Given the description of an element on the screen output the (x, y) to click on. 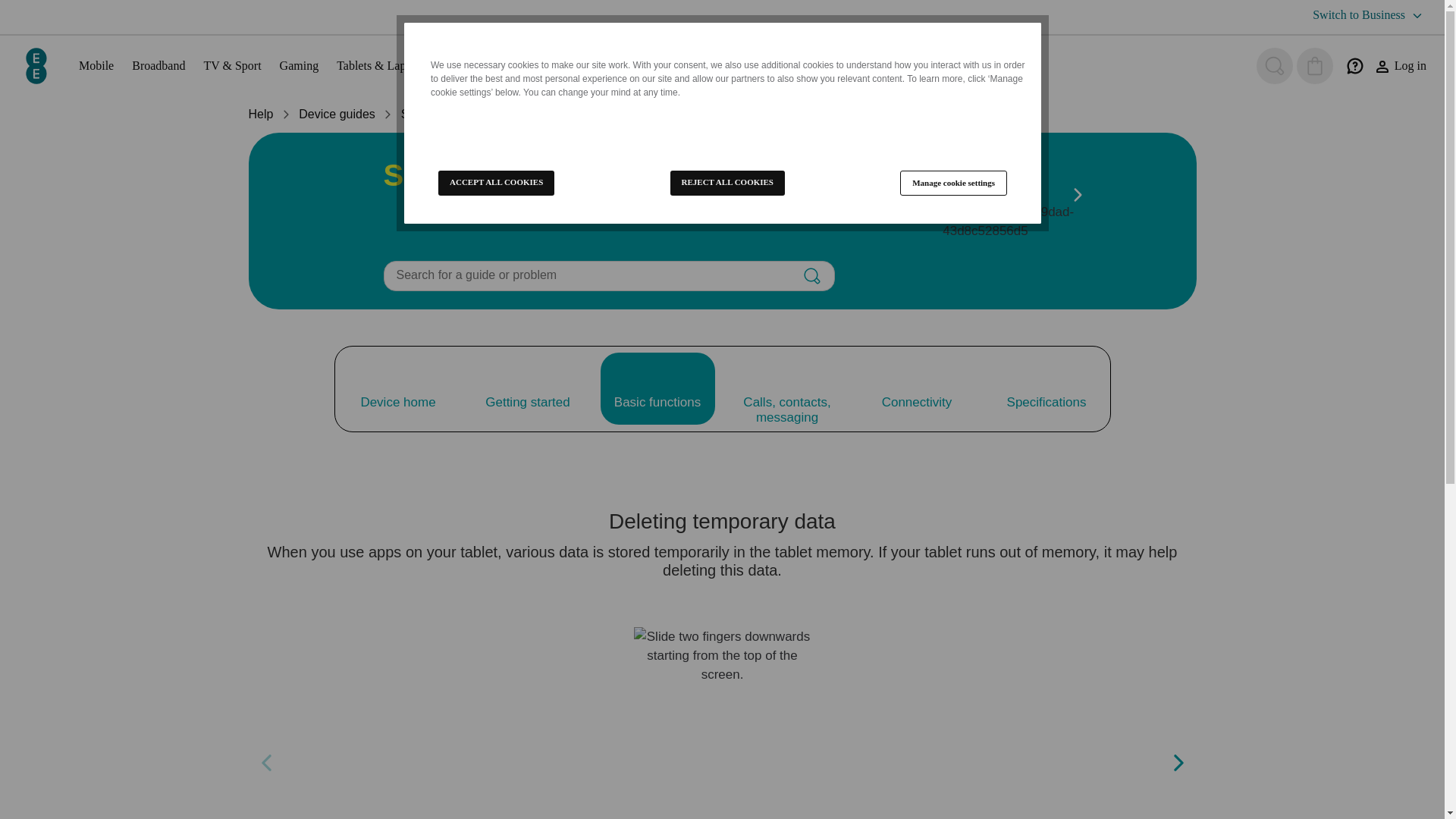
Broadband (158, 65)
Galaxy Tab S8 (516, 113)
TrustArc Cookie Consent Manager (722, 122)
Connectivity (917, 388)
Device home (397, 388)
Samsung (426, 113)
Specifications (1045, 388)
Summer Sale (684, 65)
Device guides (336, 113)
Gaming (298, 65)
Basic functions (656, 388)
Switch to Business (1369, 15)
Smart Tech (529, 65)
Log in (1399, 66)
Getting started (527, 388)
